Given the description of an element on the screen output the (x, y) to click on. 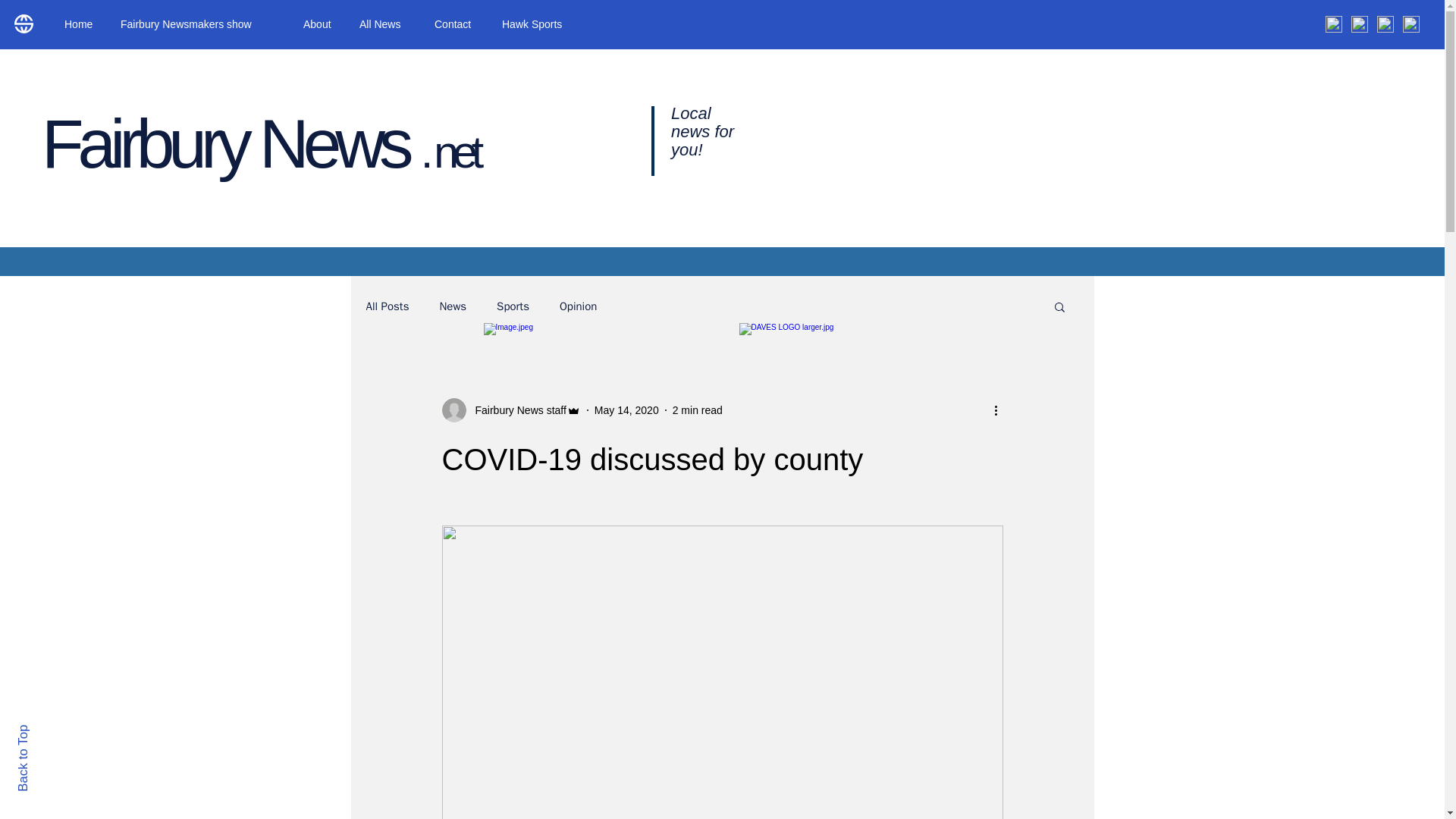
Hawk Sports (538, 24)
Home (80, 24)
All News (385, 24)
2 min read (697, 409)
Fairbury Newsmakers show (200, 24)
Contact (456, 24)
About (319, 24)
News (452, 305)
May 14, 2020 (626, 409)
Back to Top (49, 730)
